Given the description of an element on the screen output the (x, y) to click on. 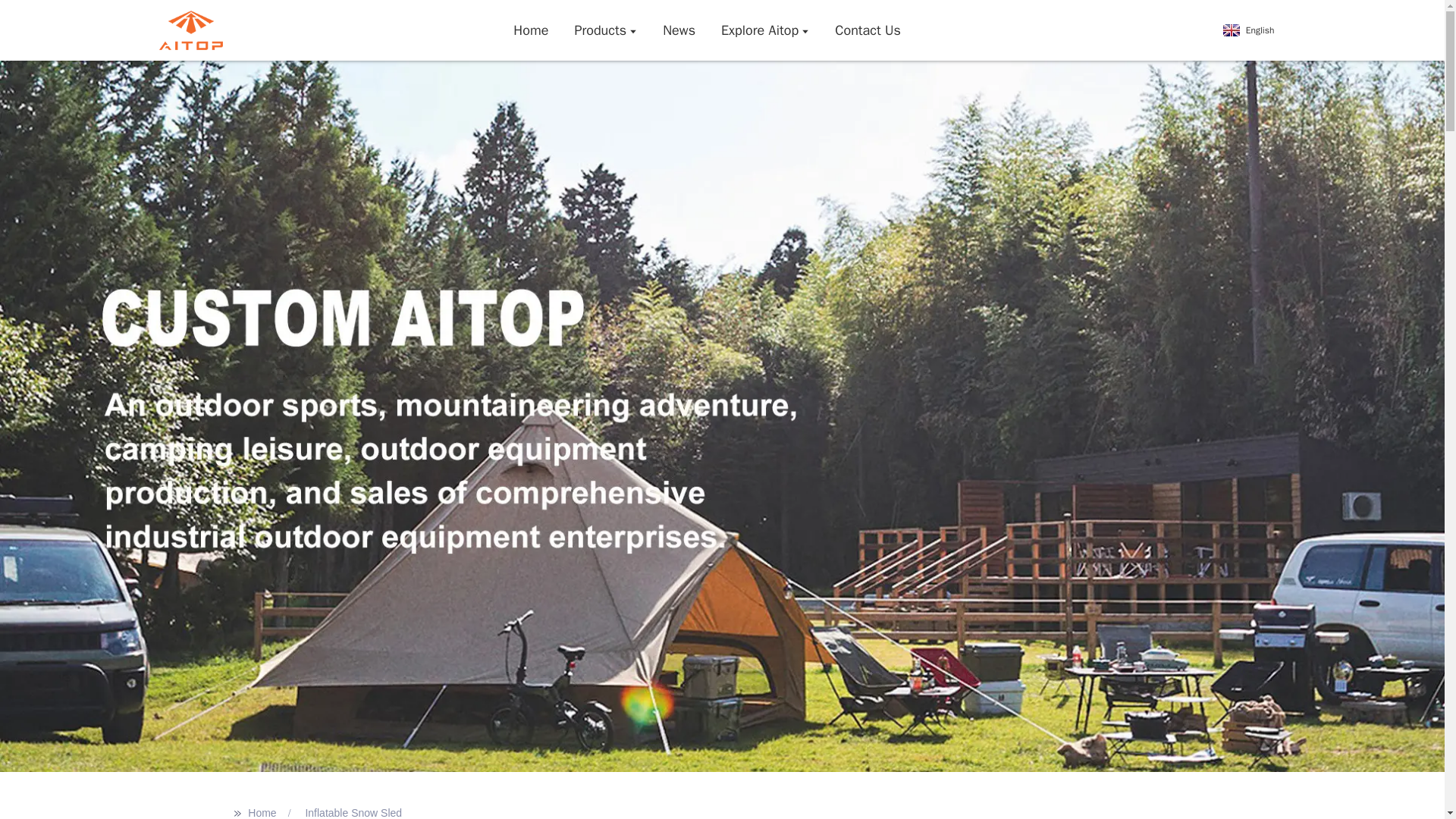
products (605, 30)
Products (605, 30)
logo (190, 30)
Explore Aitop (764, 30)
